Given the description of an element on the screen output the (x, y) to click on. 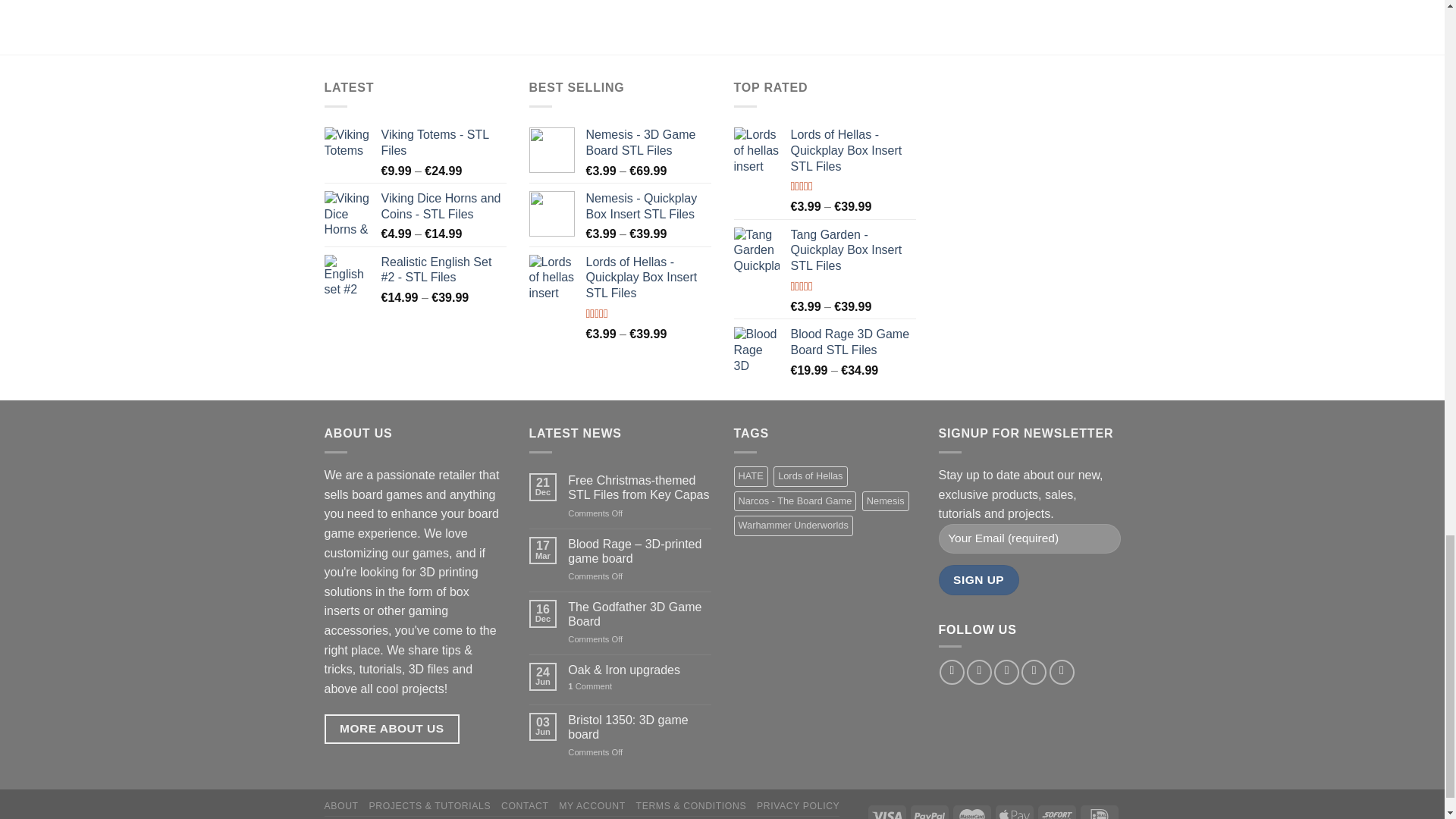
Viking Dice Horns and Coins - STL Files (442, 206)
Sign Up (979, 579)
Lords of Hellas - Quickplay Box Insert STL Files (852, 150)
Tang Garden - Quickplay Box Insert STL Files (852, 250)
Follow on Facebook (951, 672)
Nemesis - Quickplay Box Insert STL Files (647, 206)
Free Christmas-themed STL Files from Key Capas (638, 487)
Bristol 1350: 3D game board (638, 727)
The Godfather 3D Game Board (638, 613)
MORE ABOUT US (392, 728)
